Given the description of an element on the screen output the (x, y) to click on. 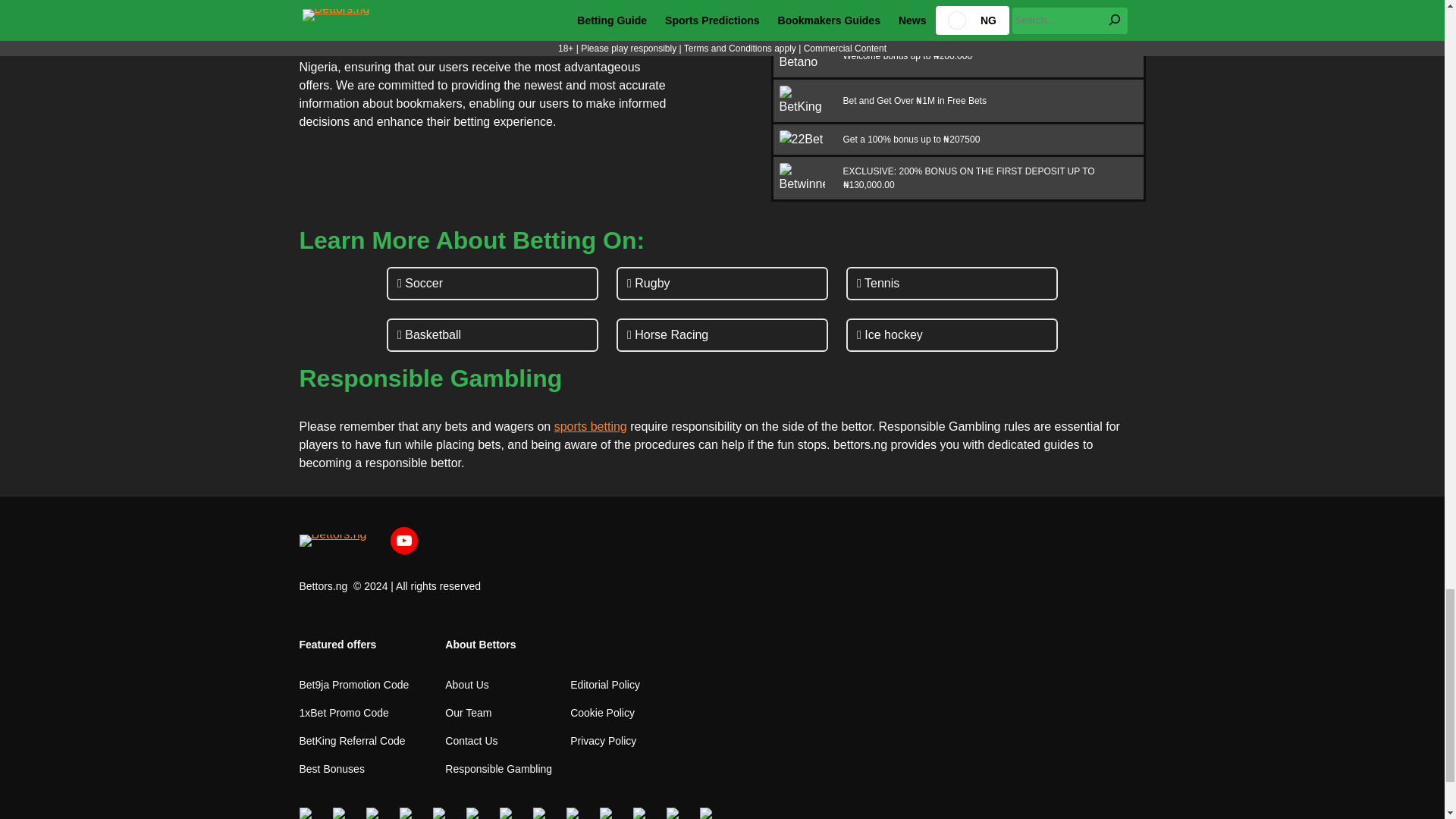
Betwinner (801, 177)
1xBet (801, 17)
BetKing (801, 100)
Betano (801, 55)
22Bet (801, 139)
